Given the description of an element on the screen output the (x, y) to click on. 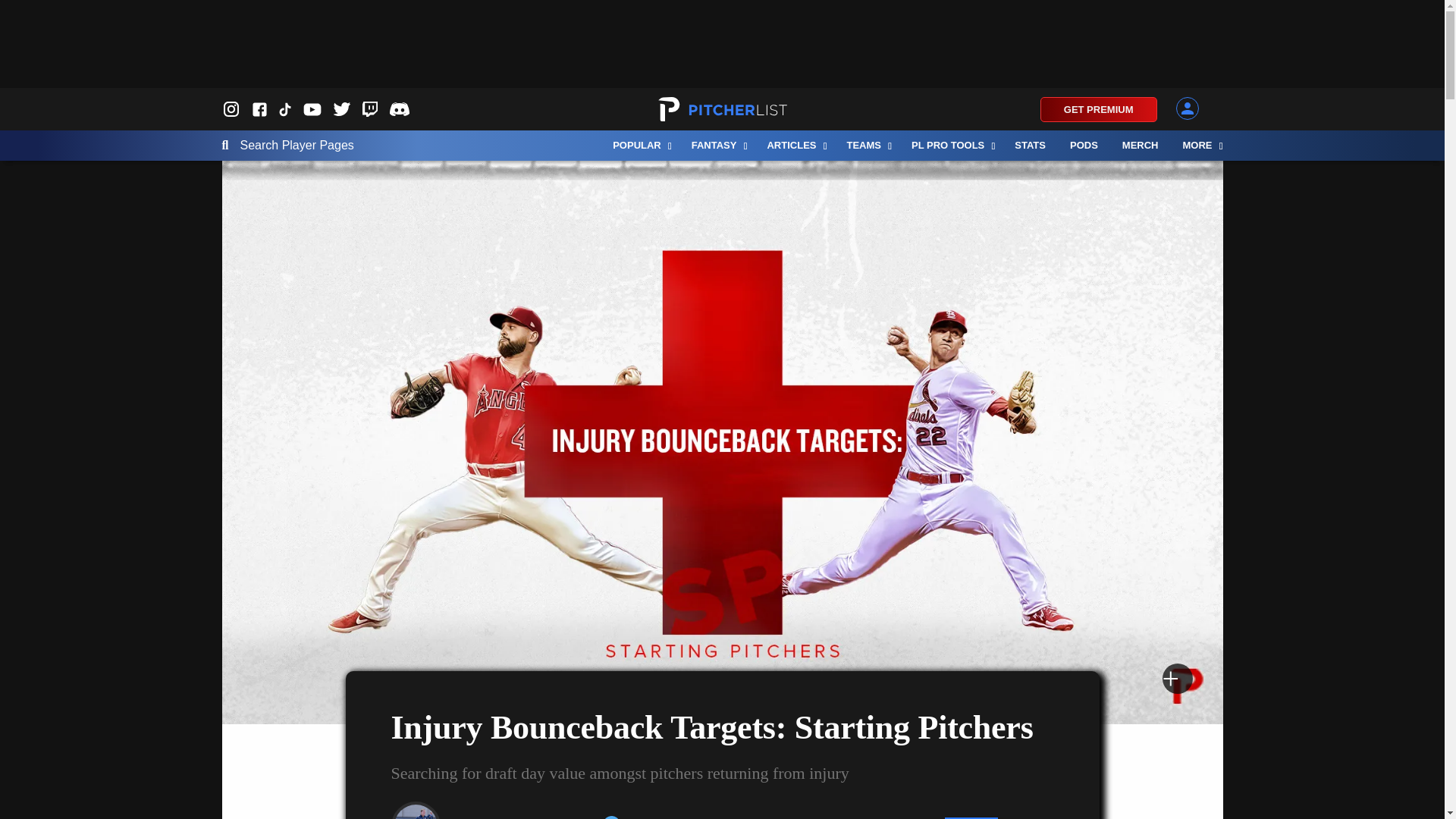
GET PREMIUM (1099, 109)
FANTASY (717, 145)
